Given the description of an element on the screen output the (x, y) to click on. 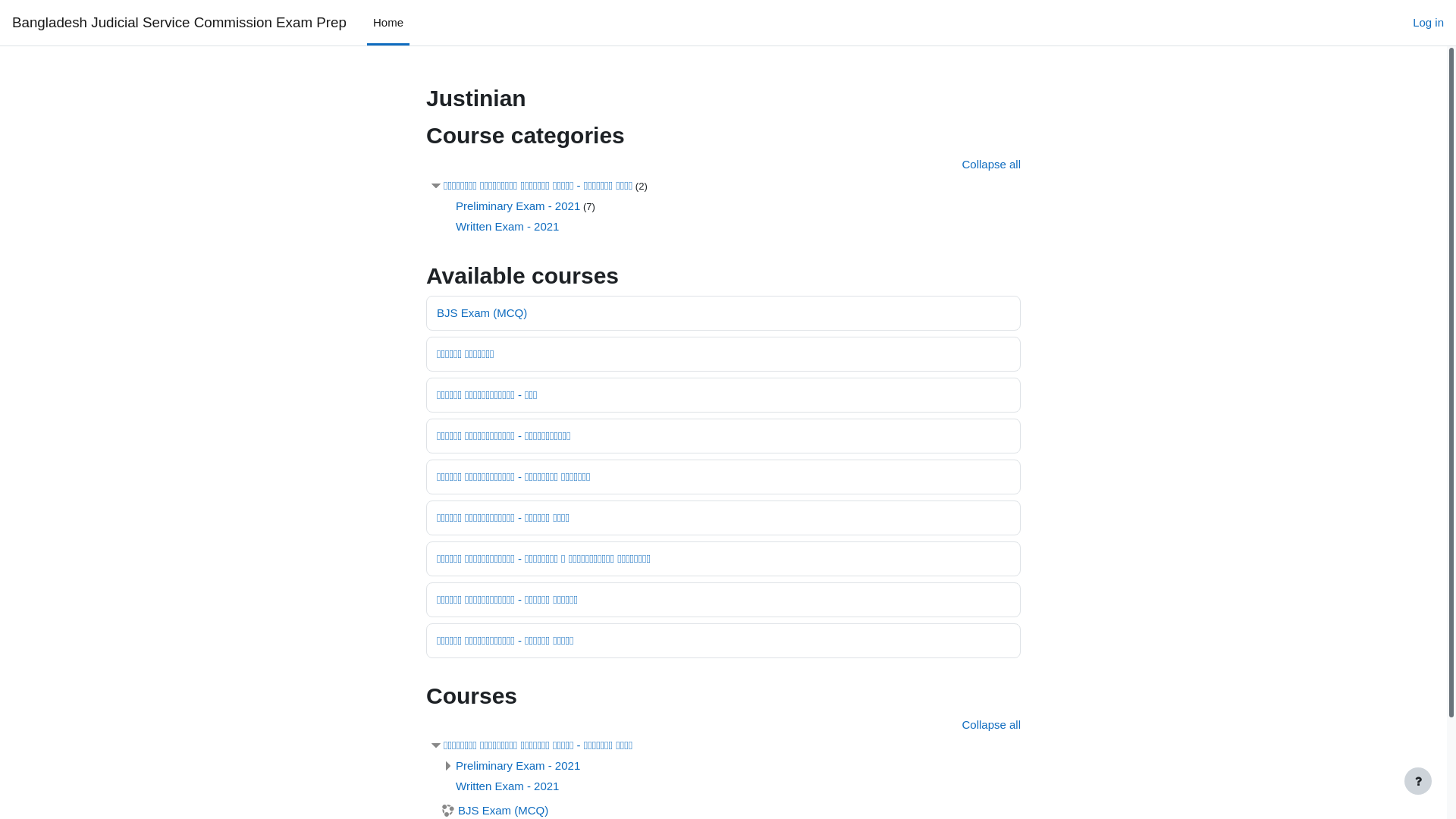
Collapse all Element type: text (990, 723)
Preliminary Exam - 2021 Element type: text (517, 765)
Preliminary Exam - 2021 Element type: text (517, 204)
Bangladesh Judicial Service Commission Exam Prep Element type: text (179, 22)
Written Exam - 2021 Element type: text (506, 785)
Home Element type: text (388, 22)
Log in Element type: text (1427, 22)
BJS Exam (MCQ) Element type: text (481, 312)
Collapse all Element type: text (990, 163)
Written Exam - 2021 Element type: text (506, 225)
